Given the description of an element on the screen output the (x, y) to click on. 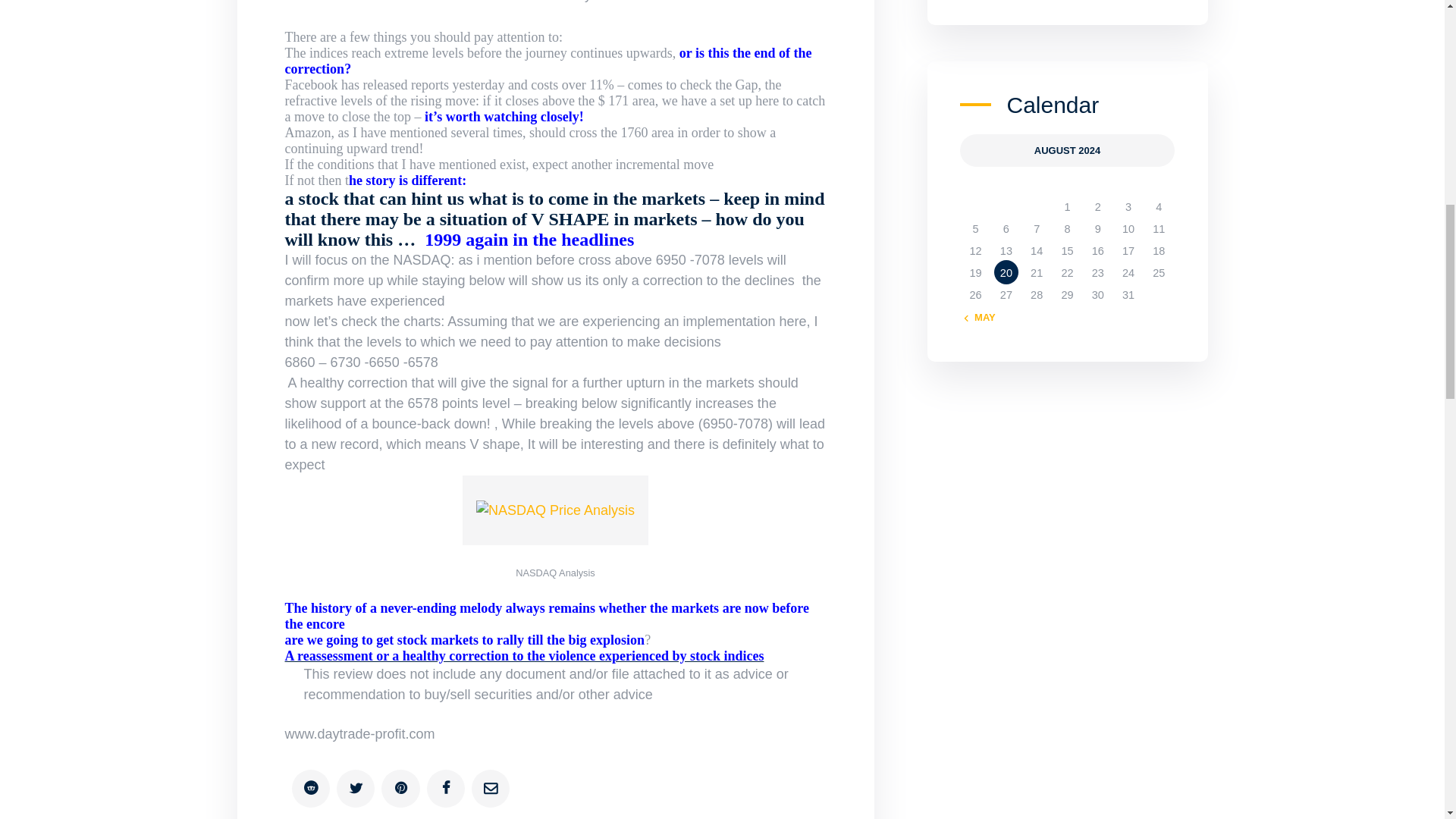
Sunday (1157, 186)
Friday (1098, 186)
NASDAQ Technical Analysis (555, 510)
Thursday (1066, 186)
Monday (974, 186)
Saturday (1127, 186)
Tuesday (1006, 186)
Wednesday (1036, 186)
